Given the description of an element on the screen output the (x, y) to click on. 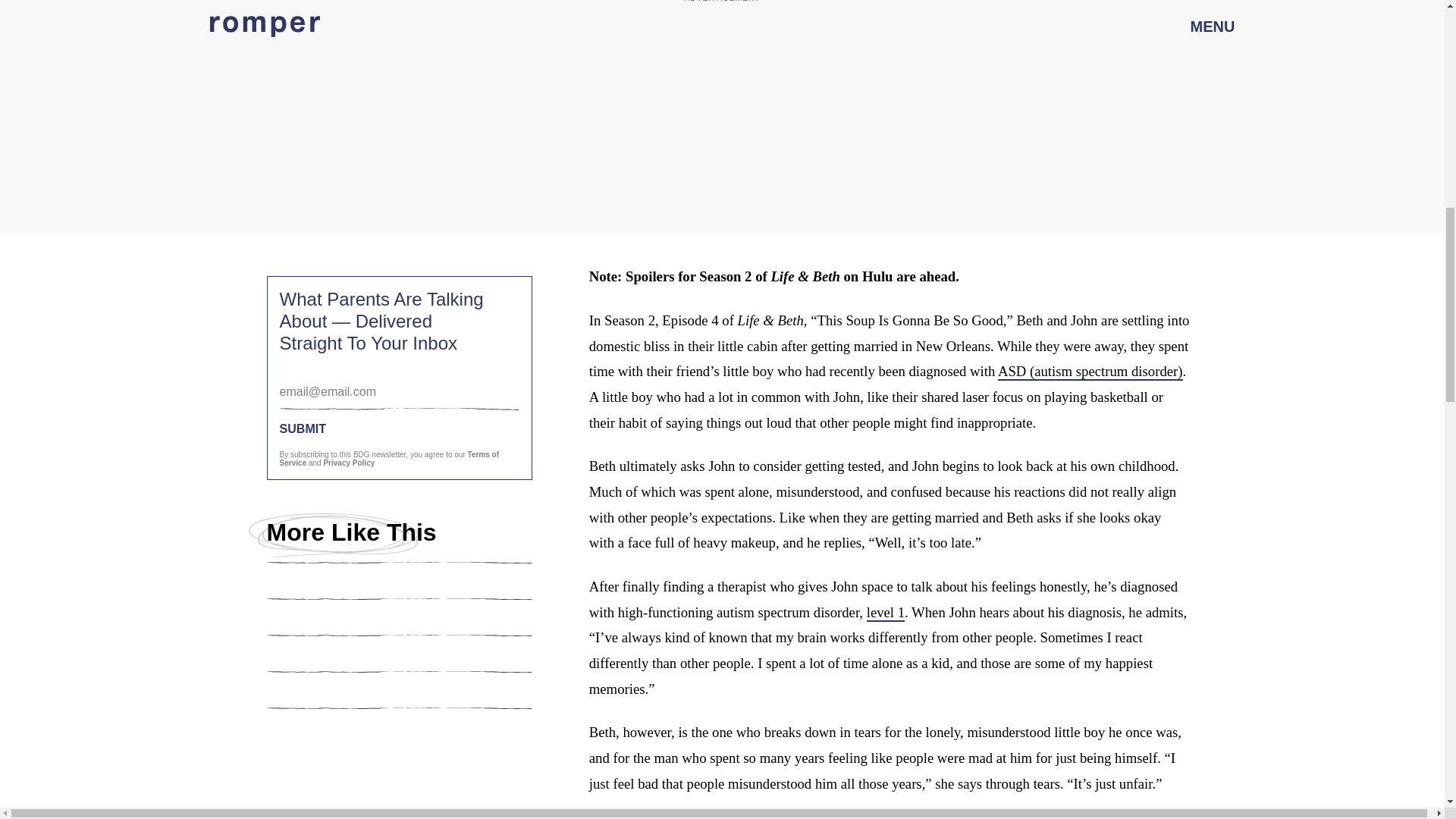
Privacy Policy (348, 462)
level 1 (885, 612)
Terms of Service (389, 458)
SUBMIT (399, 428)
